Given the description of an element on the screen output the (x, y) to click on. 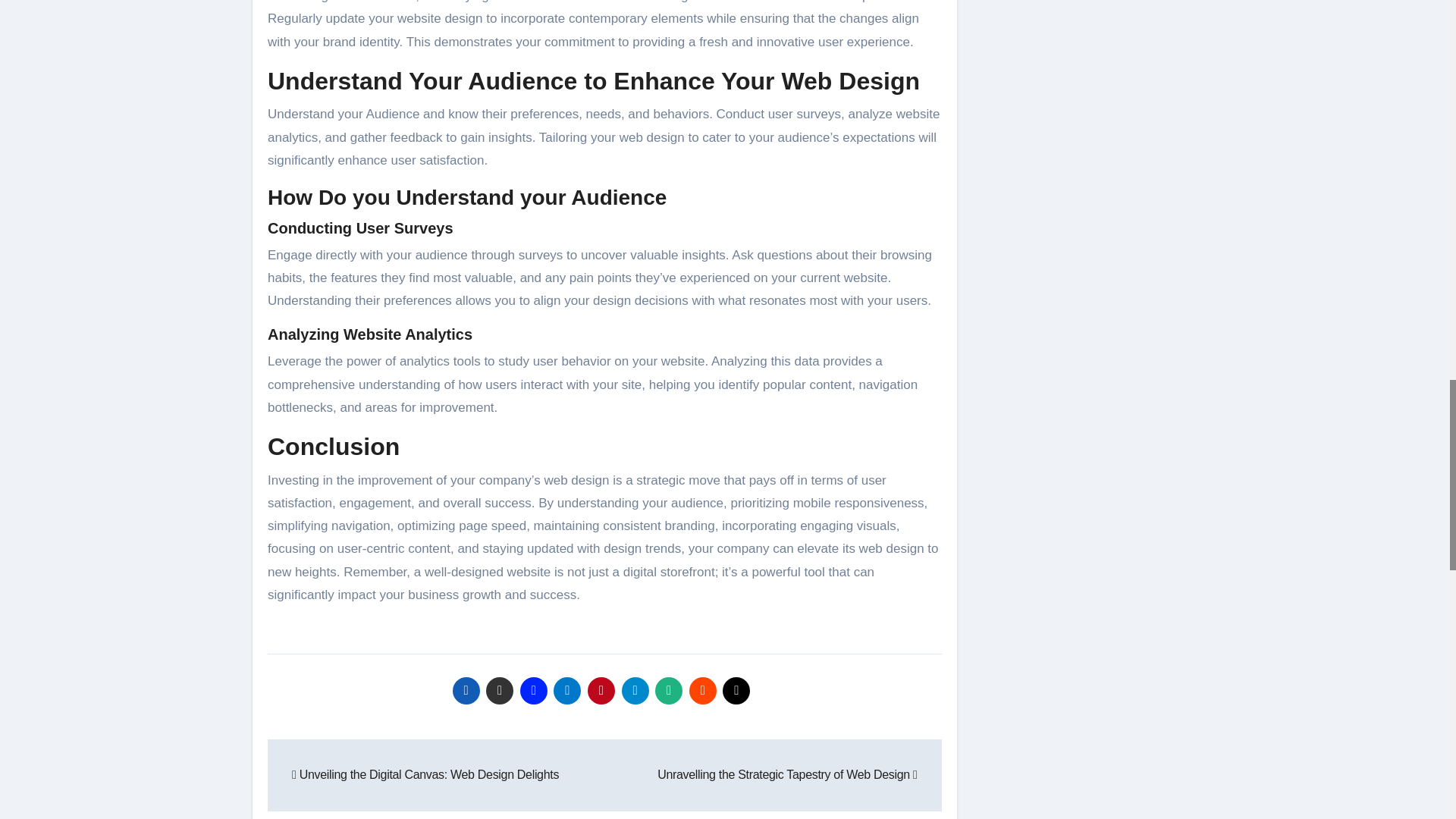
Unravelling the Strategic Tapestry of Web Design (787, 774)
Unveiling the Digital Canvas: Web Design Delights (425, 774)
